Given the description of an element on the screen output the (x, y) to click on. 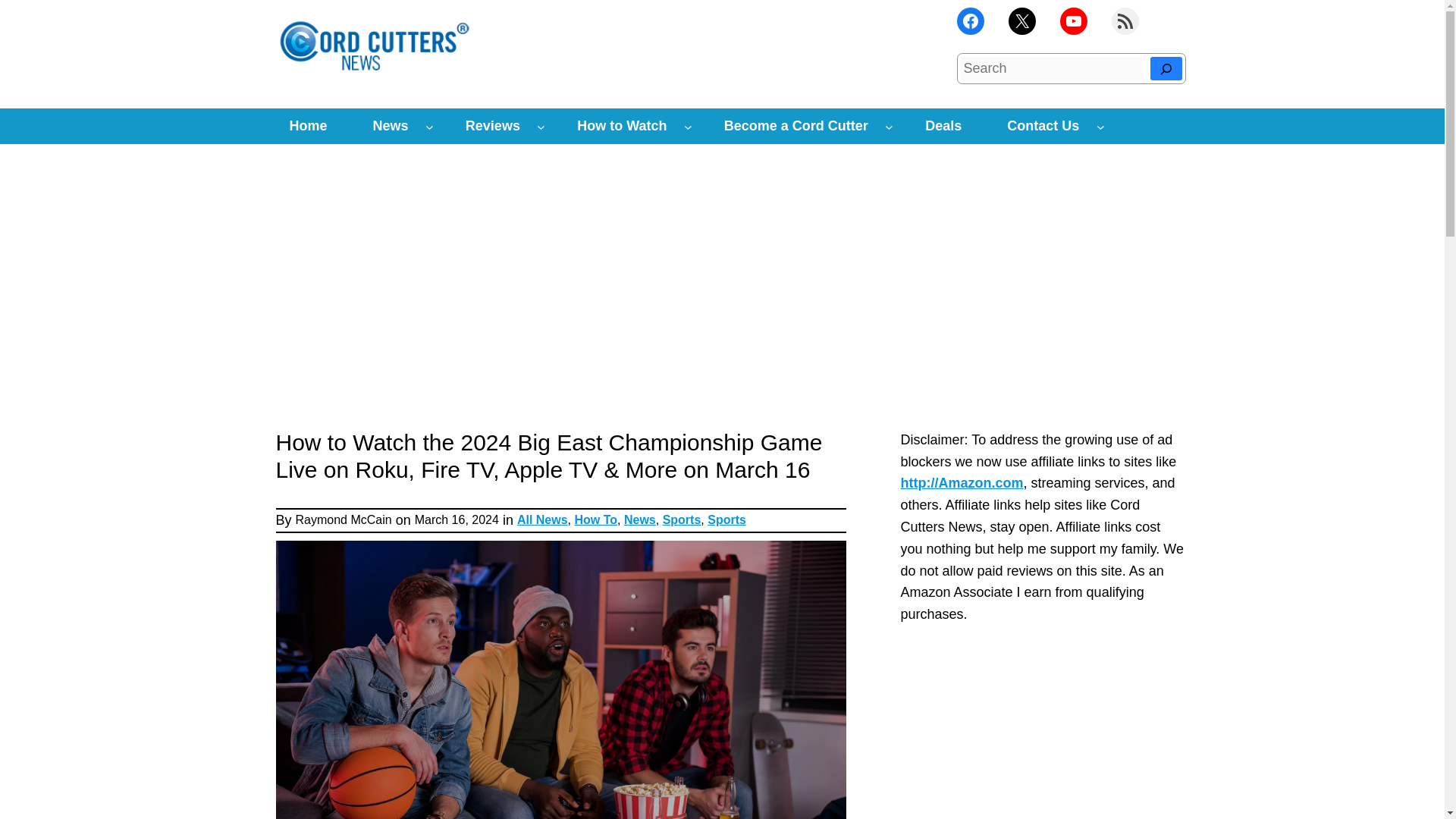
Facebook (970, 21)
X (1022, 21)
YouTube (1073, 21)
Reviews (492, 126)
RSS Feed (1125, 21)
News (390, 126)
Home (308, 126)
